Given the description of an element on the screen output the (x, y) to click on. 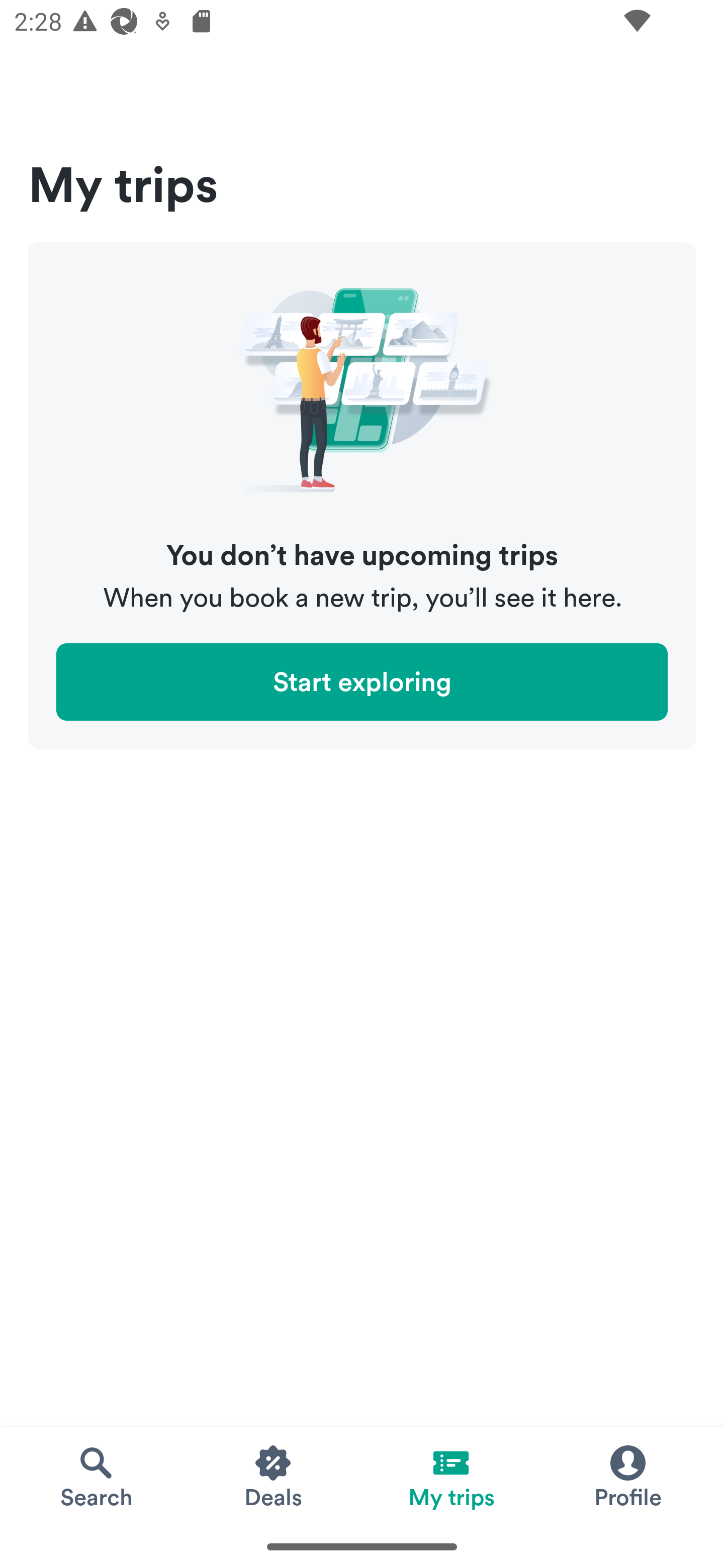
Start exploring (361, 681)
Search (95, 1475)
Deals (273, 1475)
Profile (627, 1475)
